Given the description of an element on the screen output the (x, y) to click on. 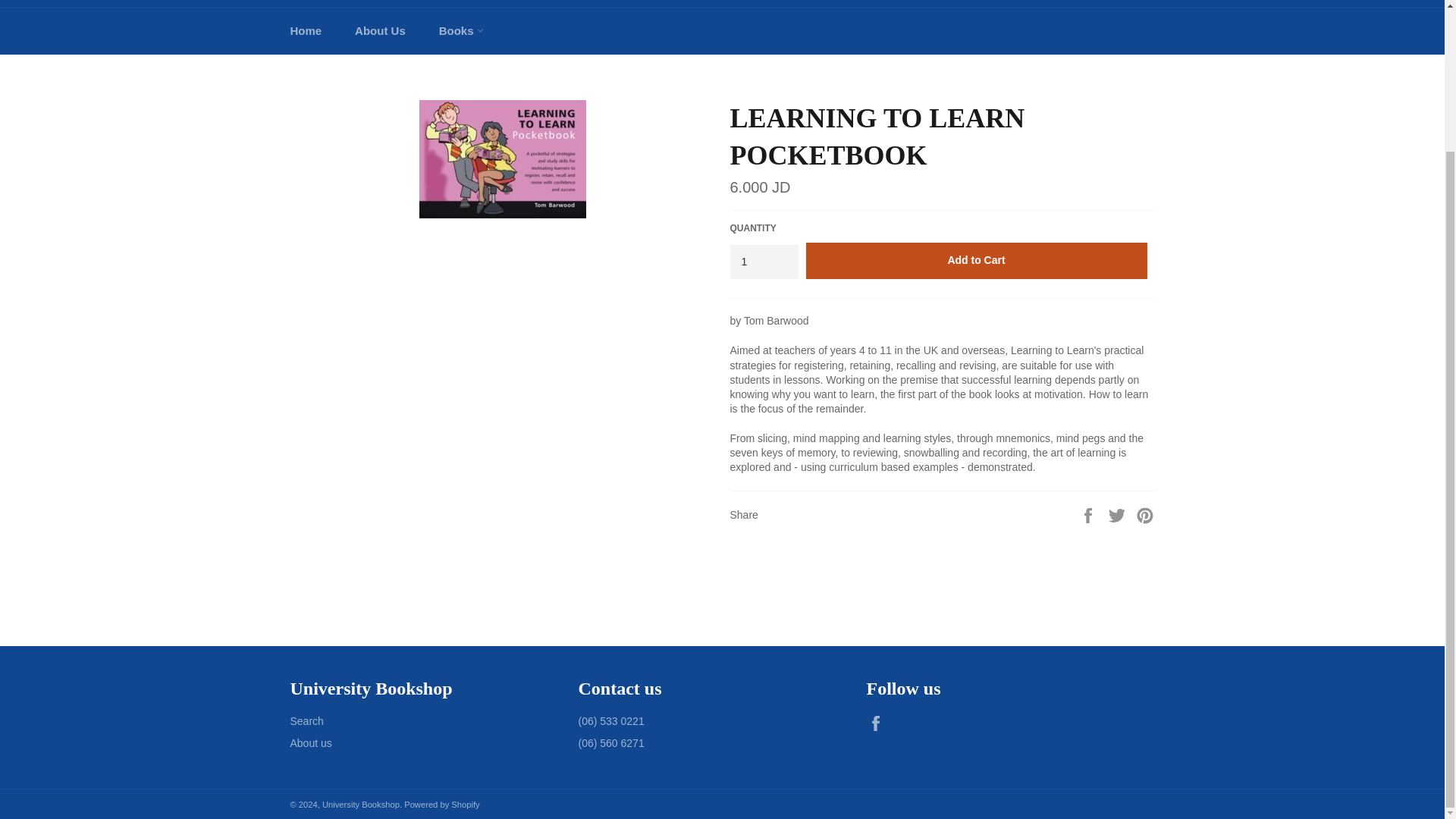
1 (763, 261)
Share on Facebook (1089, 513)
Pin on Pinterest (1144, 513)
University Bookshop on Facebook (878, 723)
Tweet on Twitter (1118, 513)
